Given the description of an element on the screen output the (x, y) to click on. 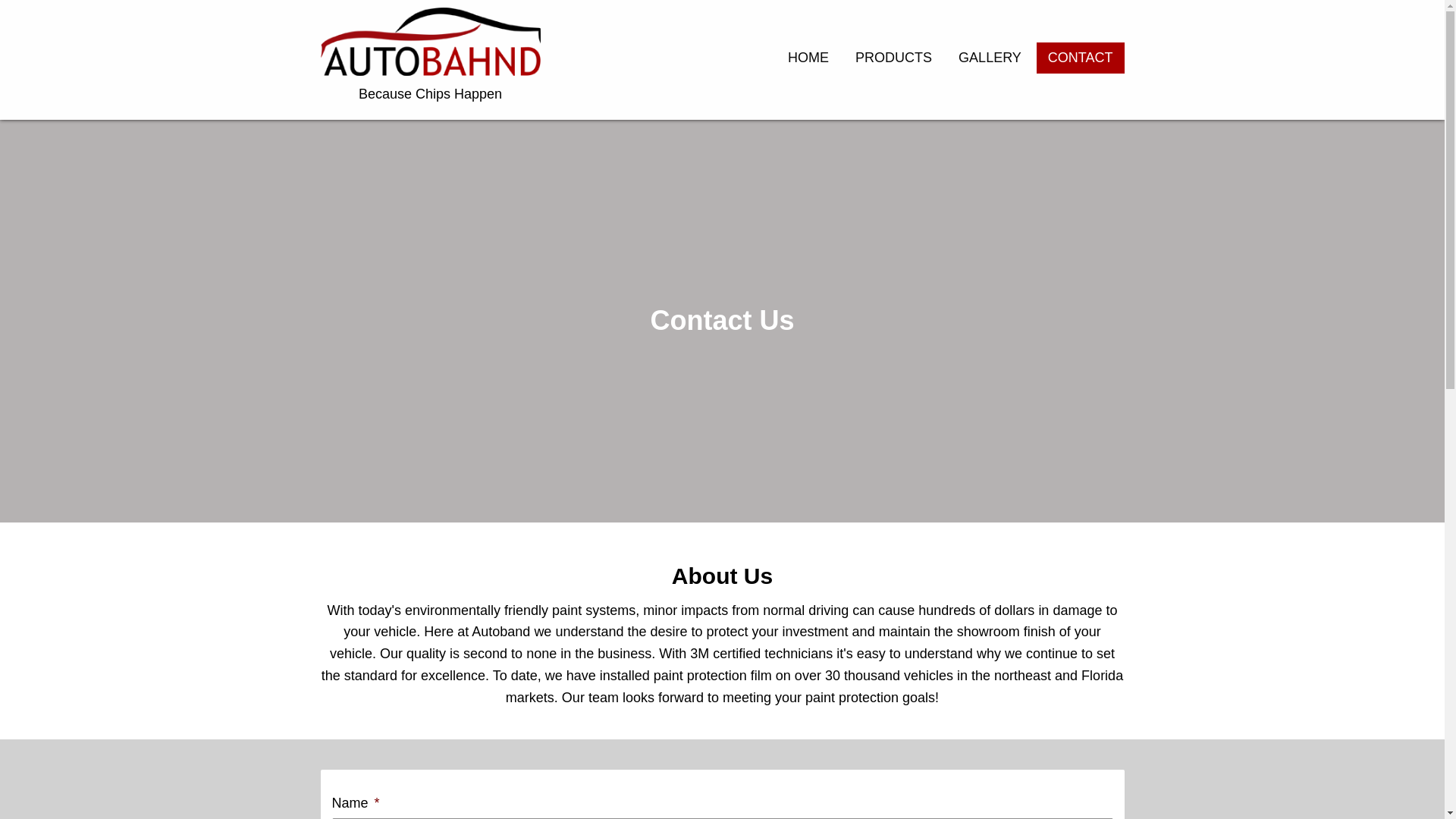
CONTACT (1080, 58)
GALLERY (989, 58)
Logo (430, 41)
HOME (808, 58)
Because Chips Happen (430, 59)
PRODUCTS (893, 58)
